Given the description of an element on the screen output the (x, y) to click on. 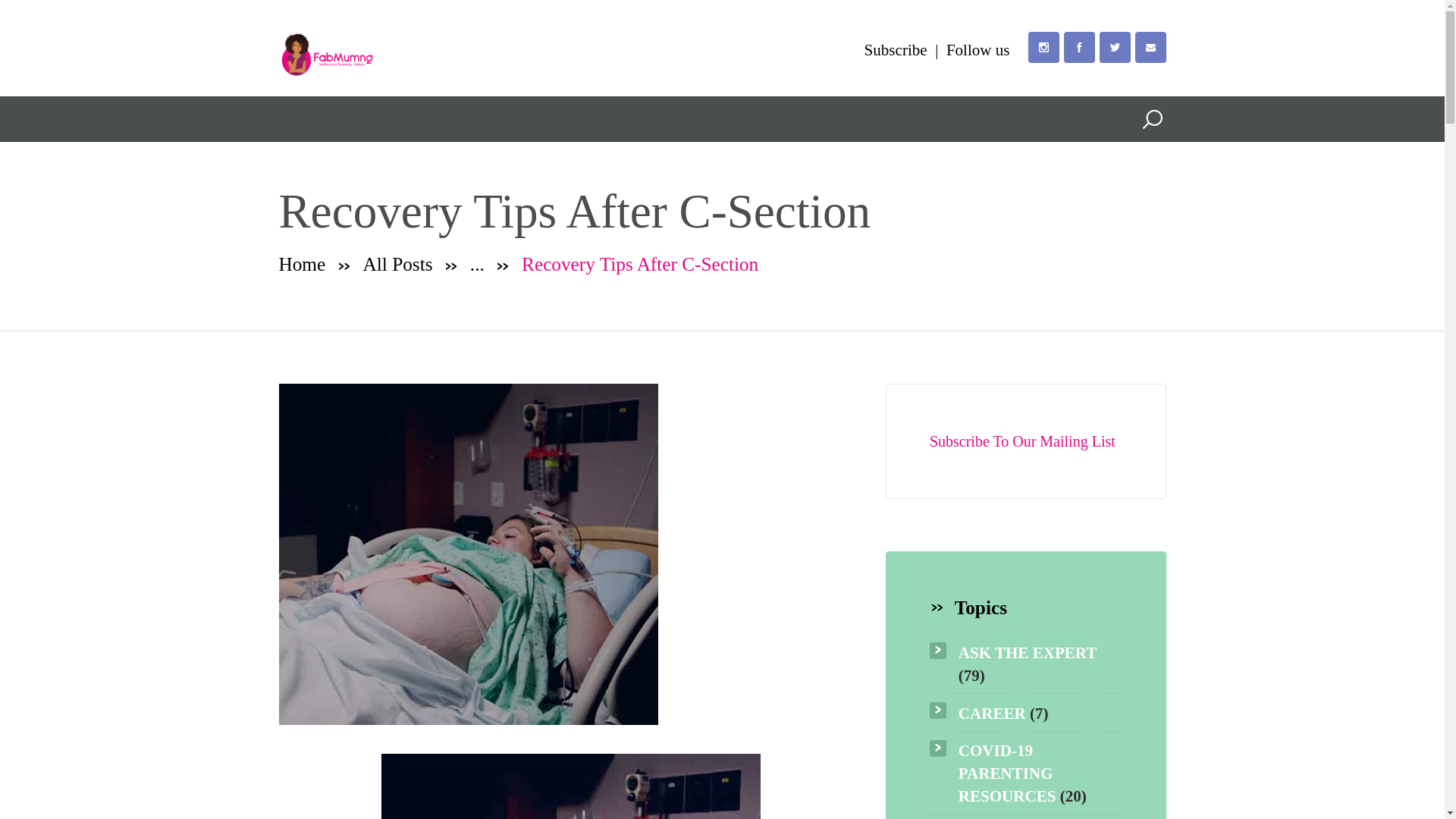
All Posts (397, 263)
Home (302, 263)
Subscribe (895, 49)
